Given the description of an element on the screen output the (x, y) to click on. 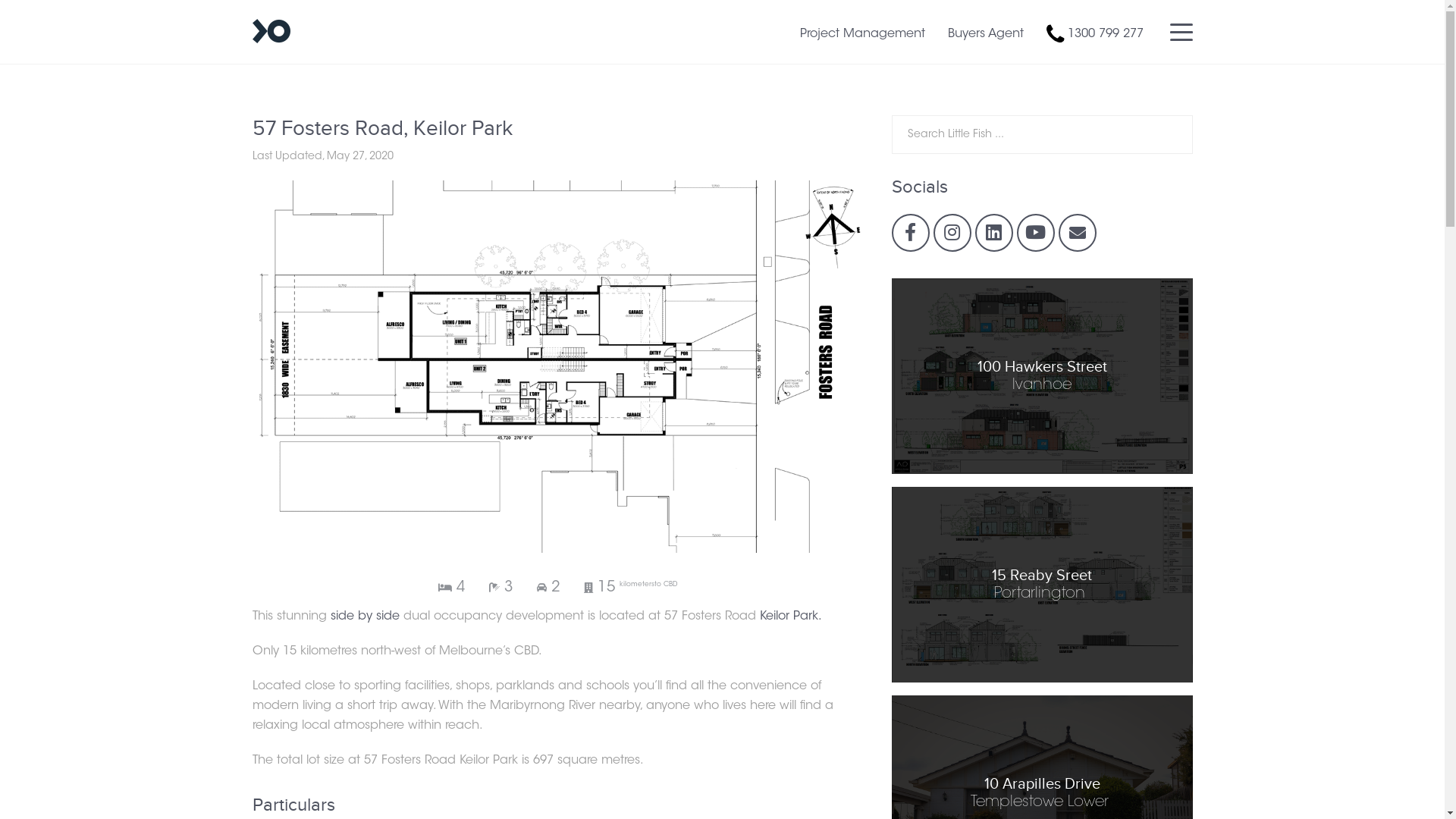
15 Reaby Sreet
Portarlington  Element type: text (1041, 584)
100 Hawkers Street
Ivanhoe Element type: text (1041, 375)
Buyers Agent Element type: text (985, 33)
Project Management Element type: text (861, 33)
1300 799 277 Element type: text (1108, 33)
side by side Element type: text (364, 616)
Keilor Park. Element type: text (790, 616)
